Given the description of an element on the screen output the (x, y) to click on. 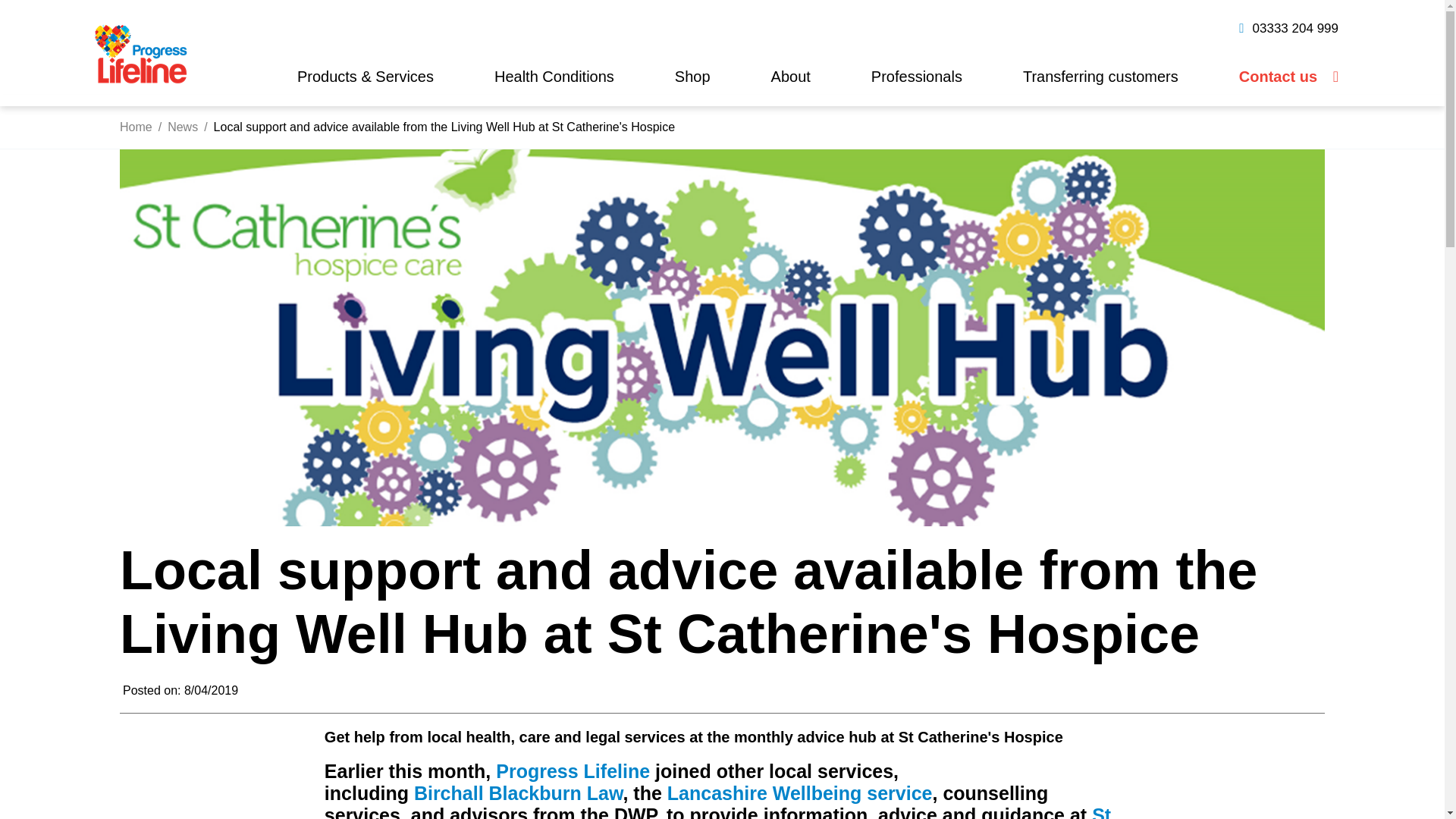
Progress Lifeline (572, 771)
Health Conditions (554, 76)
About (791, 76)
Professionals (916, 76)
Transferring customers (1100, 76)
Birchall Blackburn Law (518, 792)
News (182, 126)
Home (135, 126)
Lancashire Wellbeing service (799, 792)
Shop (693, 76)
